Given the description of an element on the screen output the (x, y) to click on. 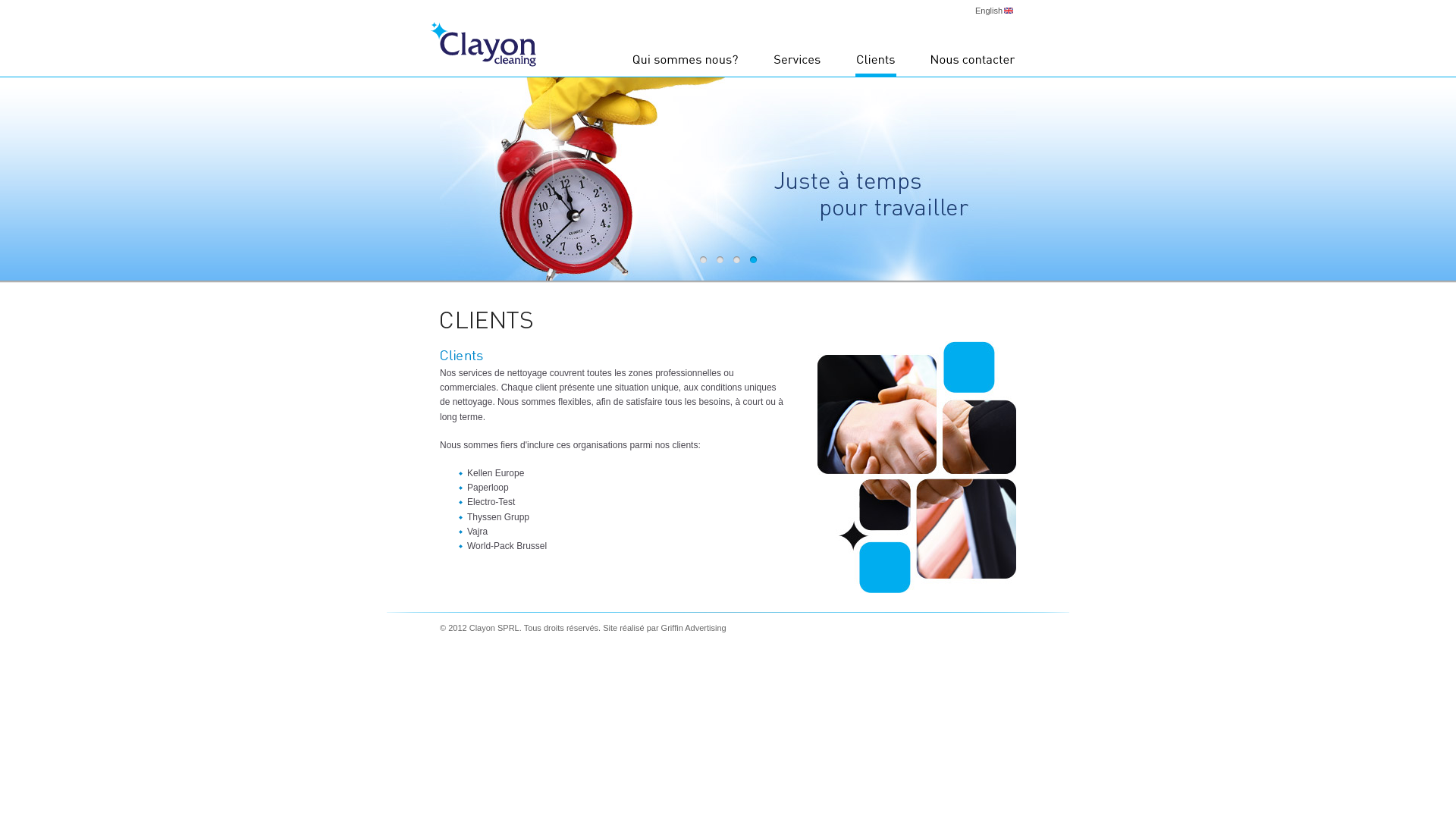
2 Element type: text (719, 259)
Qui sommes nous? Element type: text (685, 64)
Griffin Advertising Element type: text (693, 627)
1 Element type: text (703, 259)
4 Element type: text (753, 259)
Nous contacter Element type: text (972, 64)
3 Element type: text (736, 259)
Clients Element type: text (875, 64)
English Element type: text (994, 9)
Services Element type: text (797, 64)
